Given the description of an element on the screen output the (x, y) to click on. 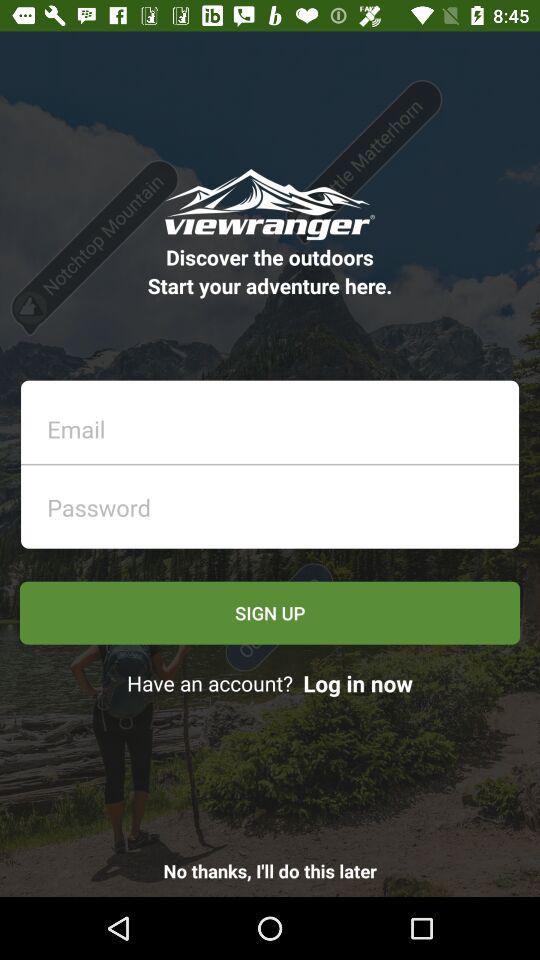
enter password (276, 501)
